Given the description of an element on the screen output the (x, y) to click on. 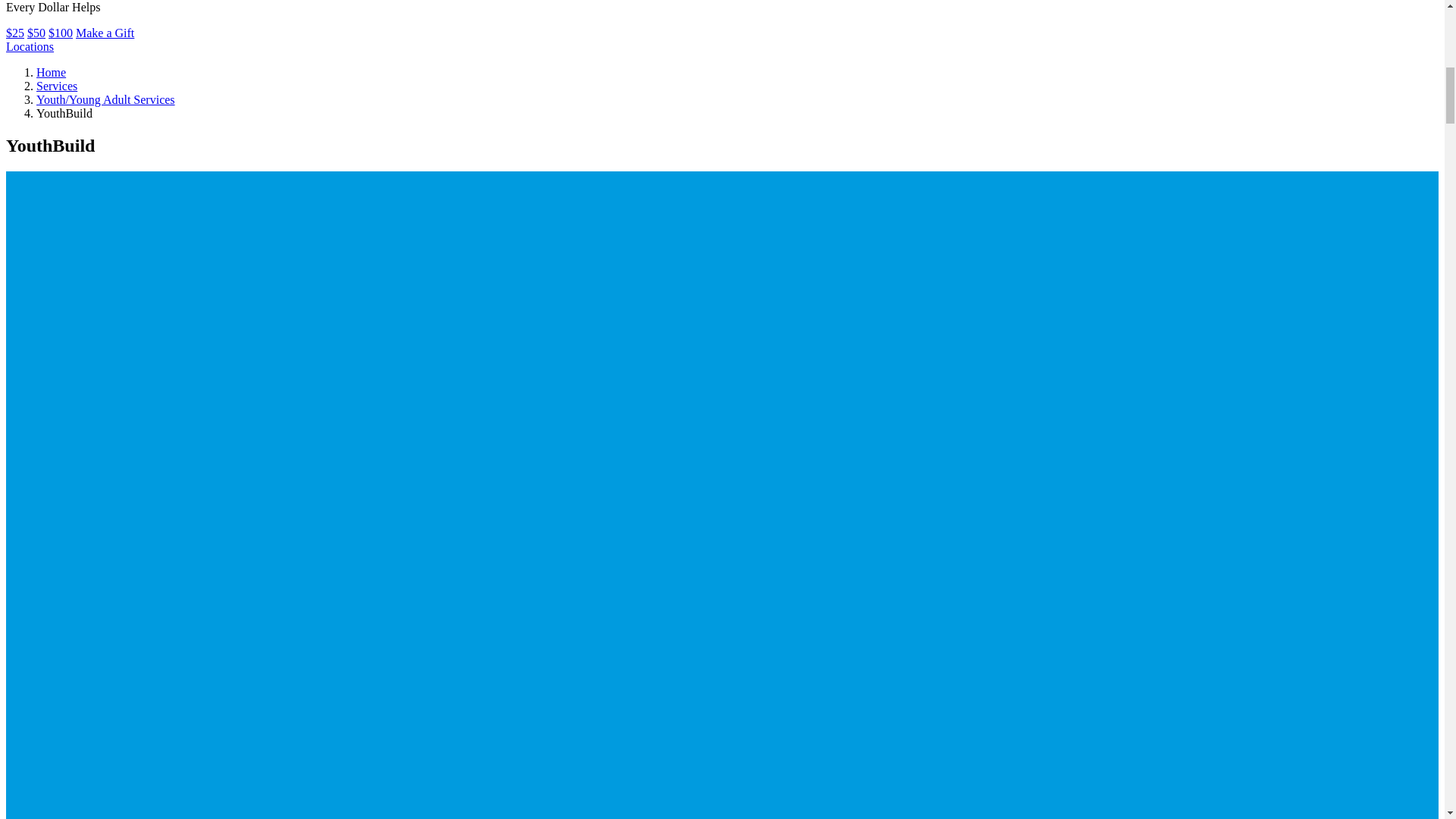
Home (50, 72)
Make a Gift (104, 32)
Services (56, 85)
Locations (29, 46)
